Given the description of an element on the screen output the (x, y) to click on. 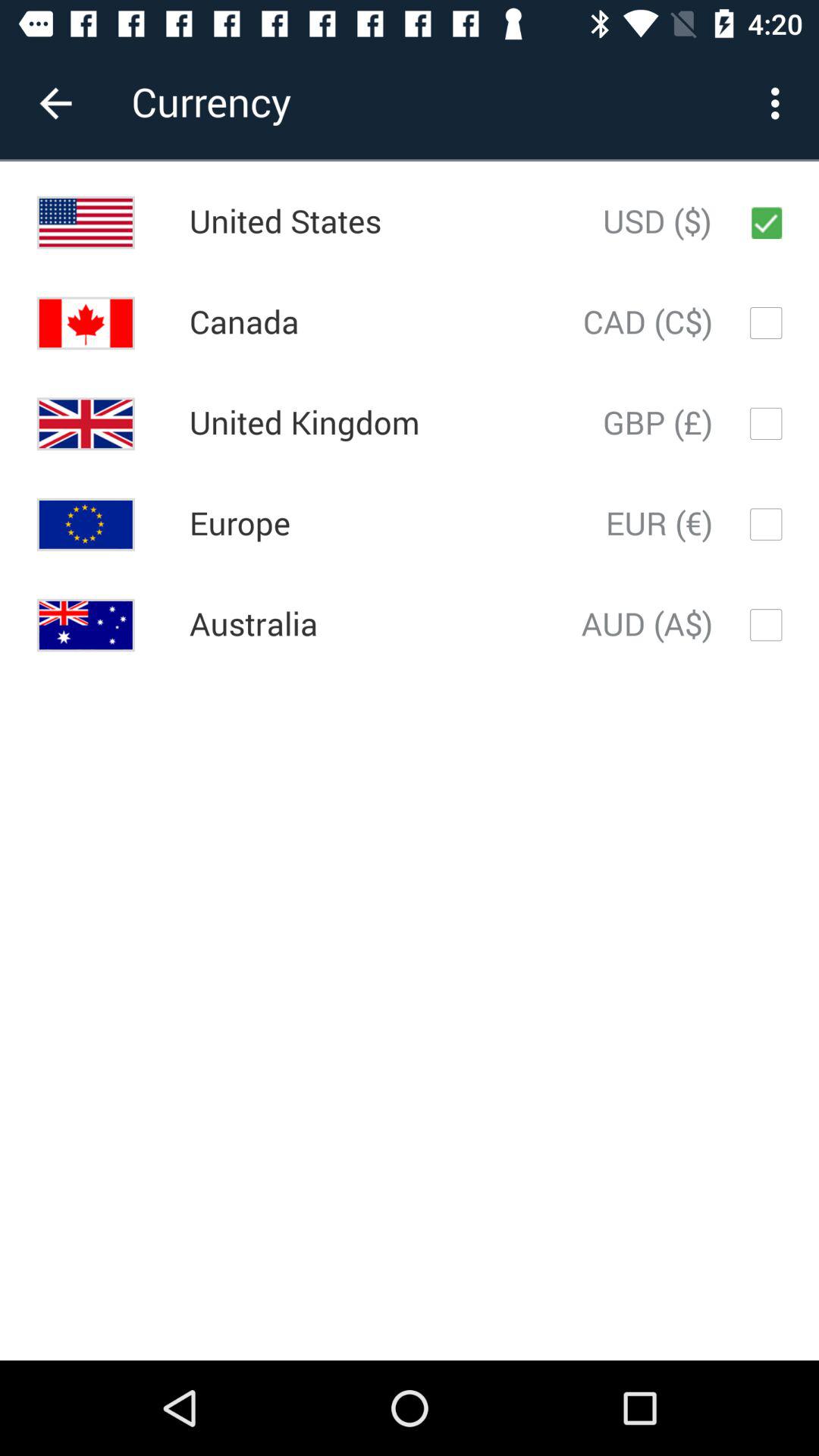
press item to the right of united states icon (657, 222)
